Given the description of an element on the screen output the (x, y) to click on. 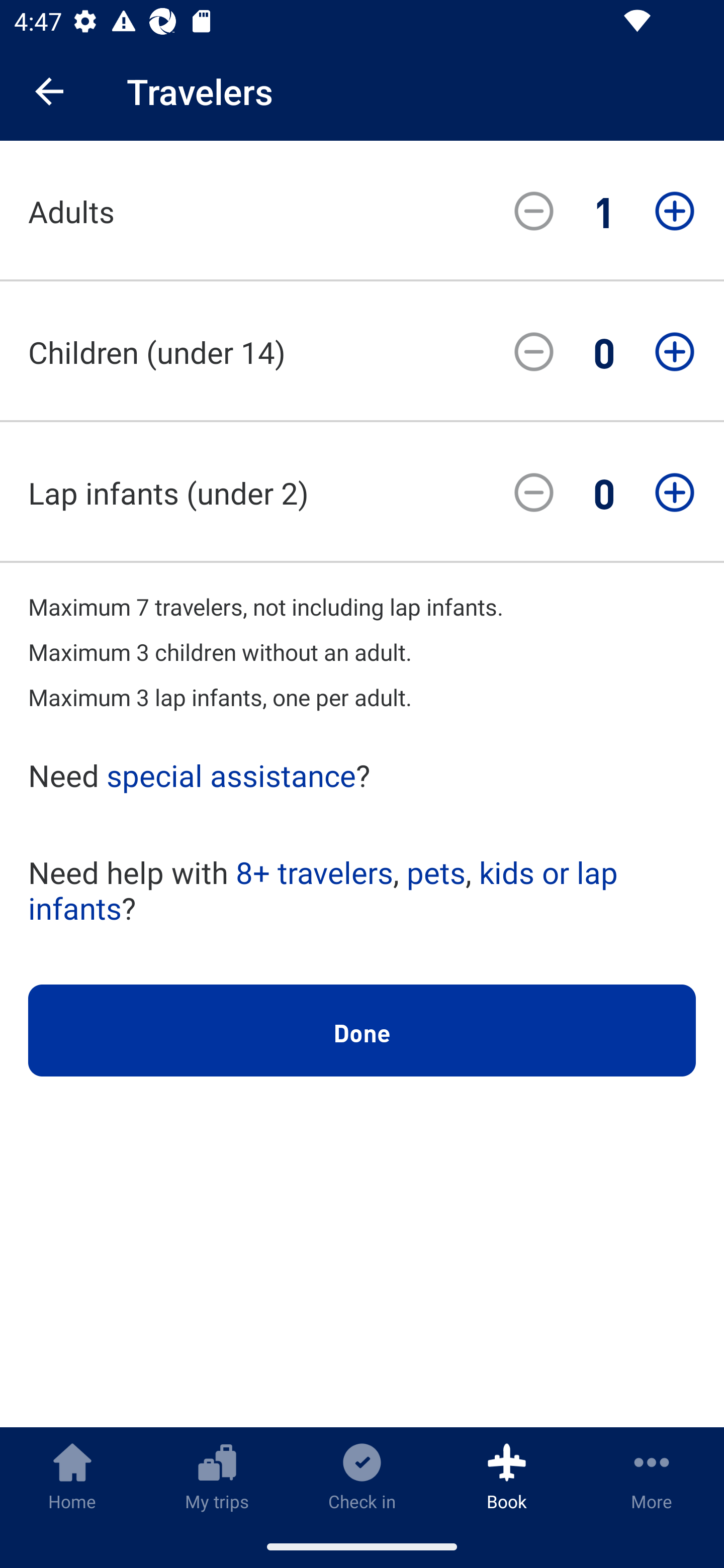
Navigate up (49, 91)
Decrease adults (533, 210)
Increase adults (674, 210)
Decrease children (533, 351)
Increase children (674, 351)
Swap origin and destination (663, 434)
Decrease infants (533, 492)
Increase infants (674, 492)
Depart and return (361, 687)
Done (361, 1030)
Home (72, 1475)
My trips (216, 1475)
Check in (361, 1475)
More (651, 1475)
